Given the description of an element on the screen output the (x, y) to click on. 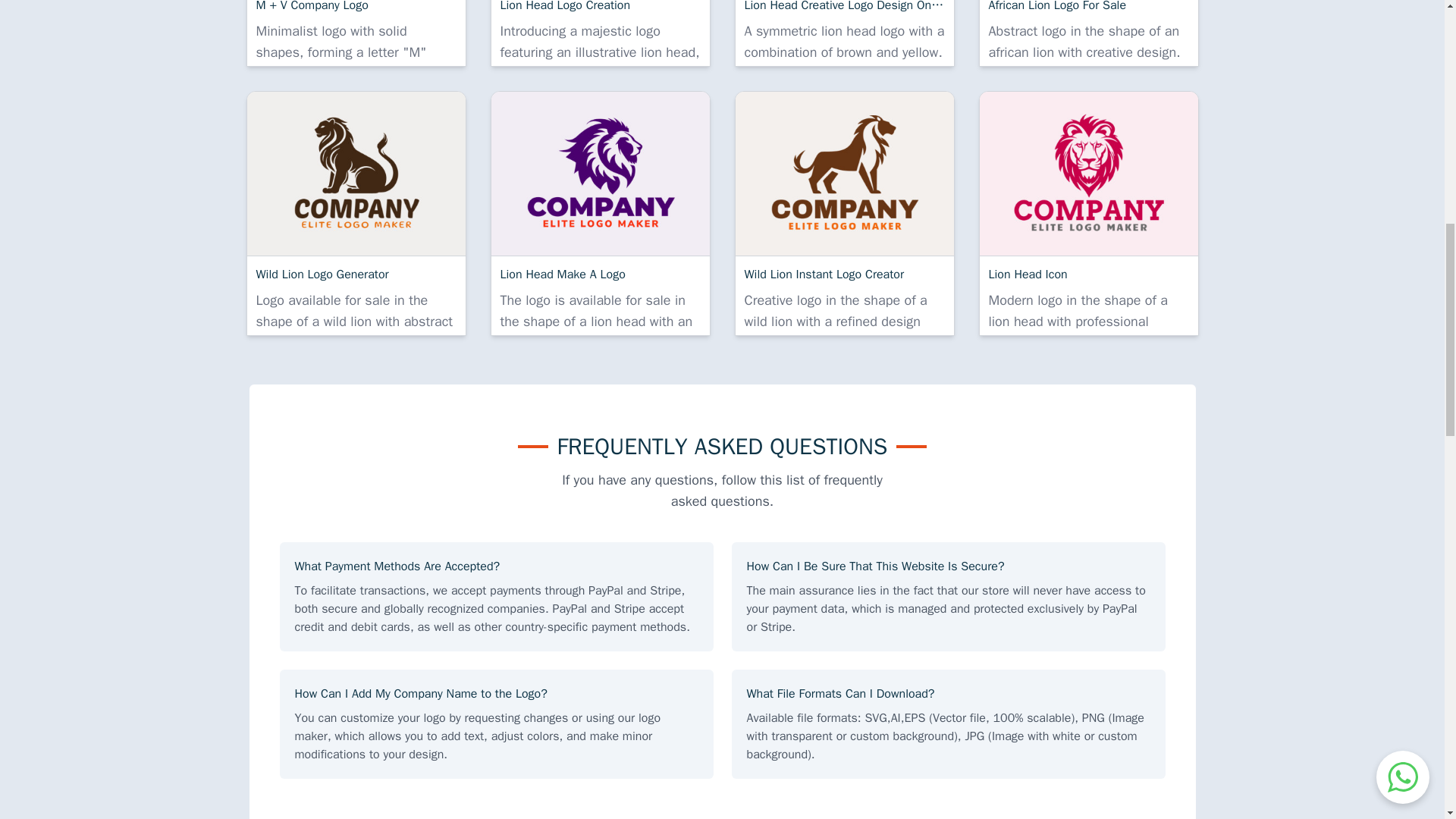
Wild Lion Instant Logo Creator (844, 172)
Lion Head Icon (1088, 172)
Lion Head Make A Logo (601, 172)
